Given the description of an element on the screen output the (x, y) to click on. 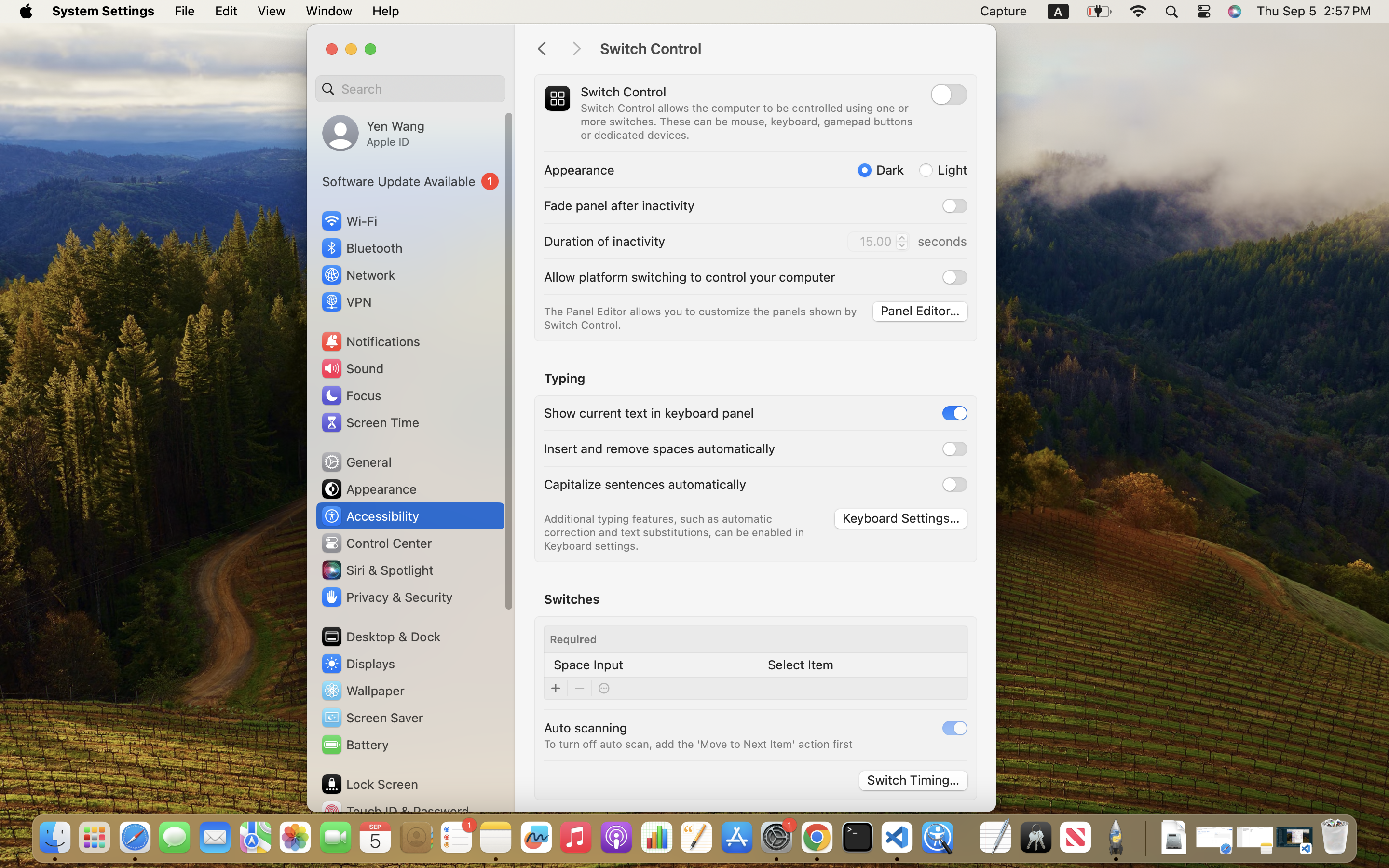
Sound Element type: AXStaticText (351, 367)
Additional typing features, such as automatic correction and text substitutions, can be enabled in Keyboard settings. Element type: AXStaticText (675, 532)
Duration of inactivity Element type: AXStaticText (604, 240)
The Panel Editor allows you to customize the panels shown by Switch Control. Element type: AXStaticText (702, 317)
Switch Control Element type: AXStaticText (788, 49)
